Given the description of an element on the screen output the (x, y) to click on. 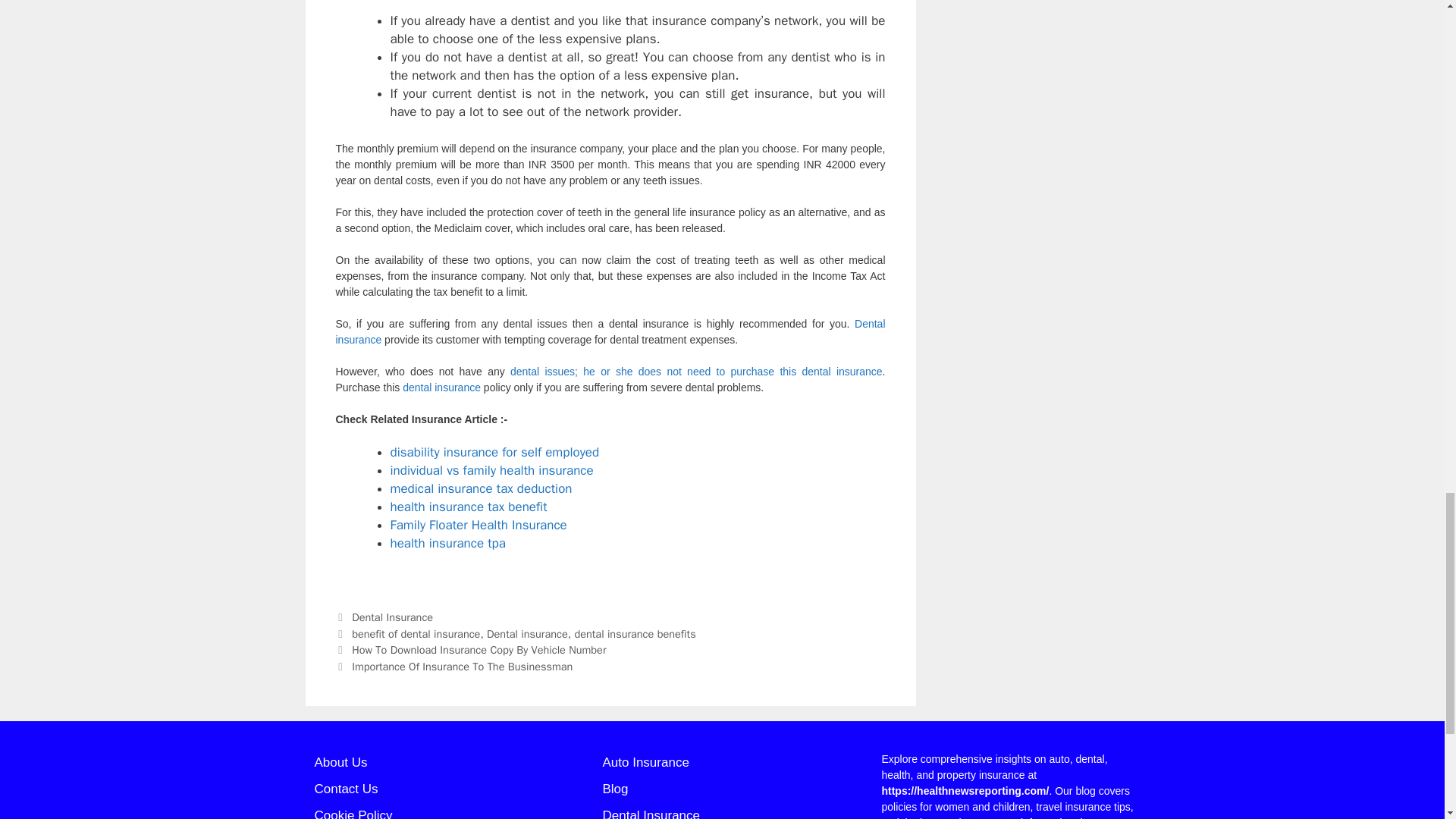
Dental insurance (526, 633)
Family Floater Health Insurance (478, 524)
disability insurance for self employed (494, 452)
How To Download Insurance Copy By Vehicle Number (478, 649)
Dental Insurance (392, 617)
medical insurance tax deduction (481, 488)
dental insurance benefits (634, 633)
Dental insurance (609, 330)
individual vs family health insurance (491, 470)
health insurance tax benefit (468, 506)
benefit of dental insurance (416, 633)
Importance Of Insurance To The Businessman (462, 666)
dental insurance (441, 386)
health insurance tpa (447, 543)
